Given the description of an element on the screen output the (x, y) to click on. 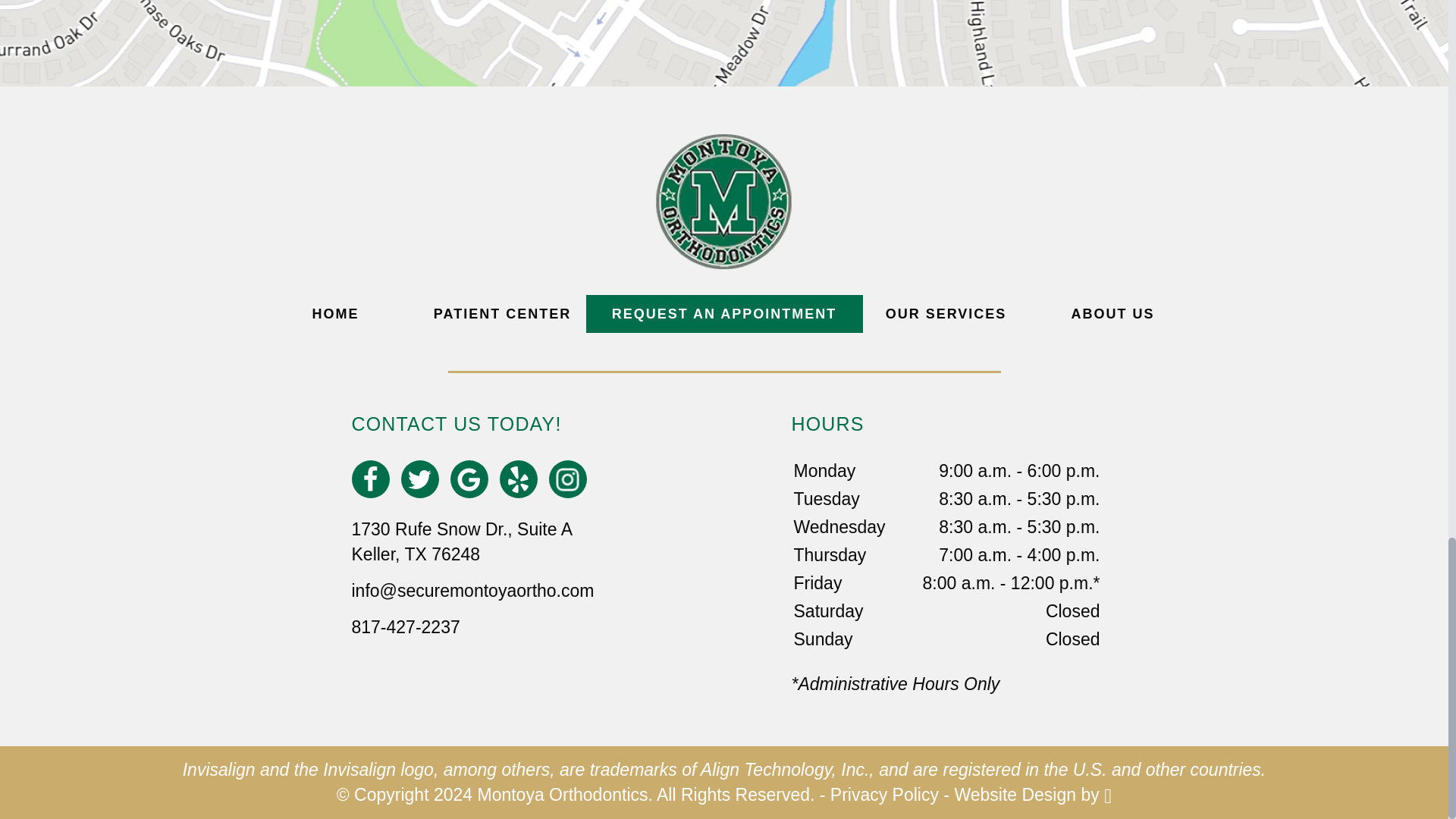
Facebook icon (370, 479)
Yelp icon (518, 479)
Twitter icon (419, 479)
Google icon (468, 479)
Instagram icon (567, 479)
